Given the description of an element on the screen output the (x, y) to click on. 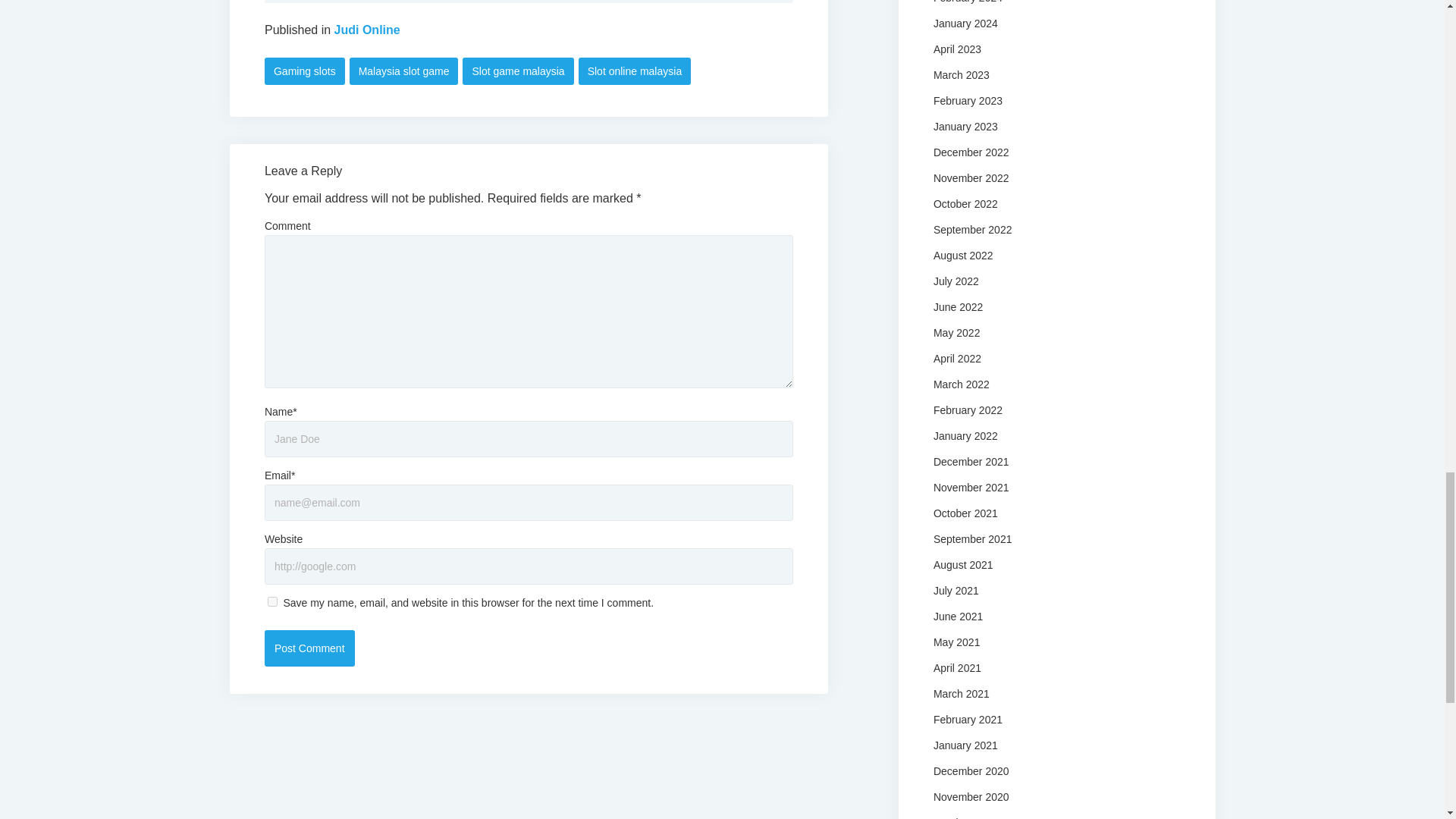
View all posts tagged Slot game malaysia (518, 71)
April 2023 (957, 48)
View all posts tagged Malaysia slot game (403, 71)
Gaming slots (304, 71)
yes (272, 601)
January 2024 (965, 22)
Slot game malaysia (518, 71)
View all posts tagged Gaming slots (304, 71)
Post Comment (309, 647)
Malaysia slot game (403, 71)
February 2024 (968, 1)
View all posts in Judi Online (367, 29)
View all posts tagged Slot online malaysia (634, 71)
Judi Online (367, 29)
Slot online malaysia (634, 71)
